Given the description of an element on the screen output the (x, y) to click on. 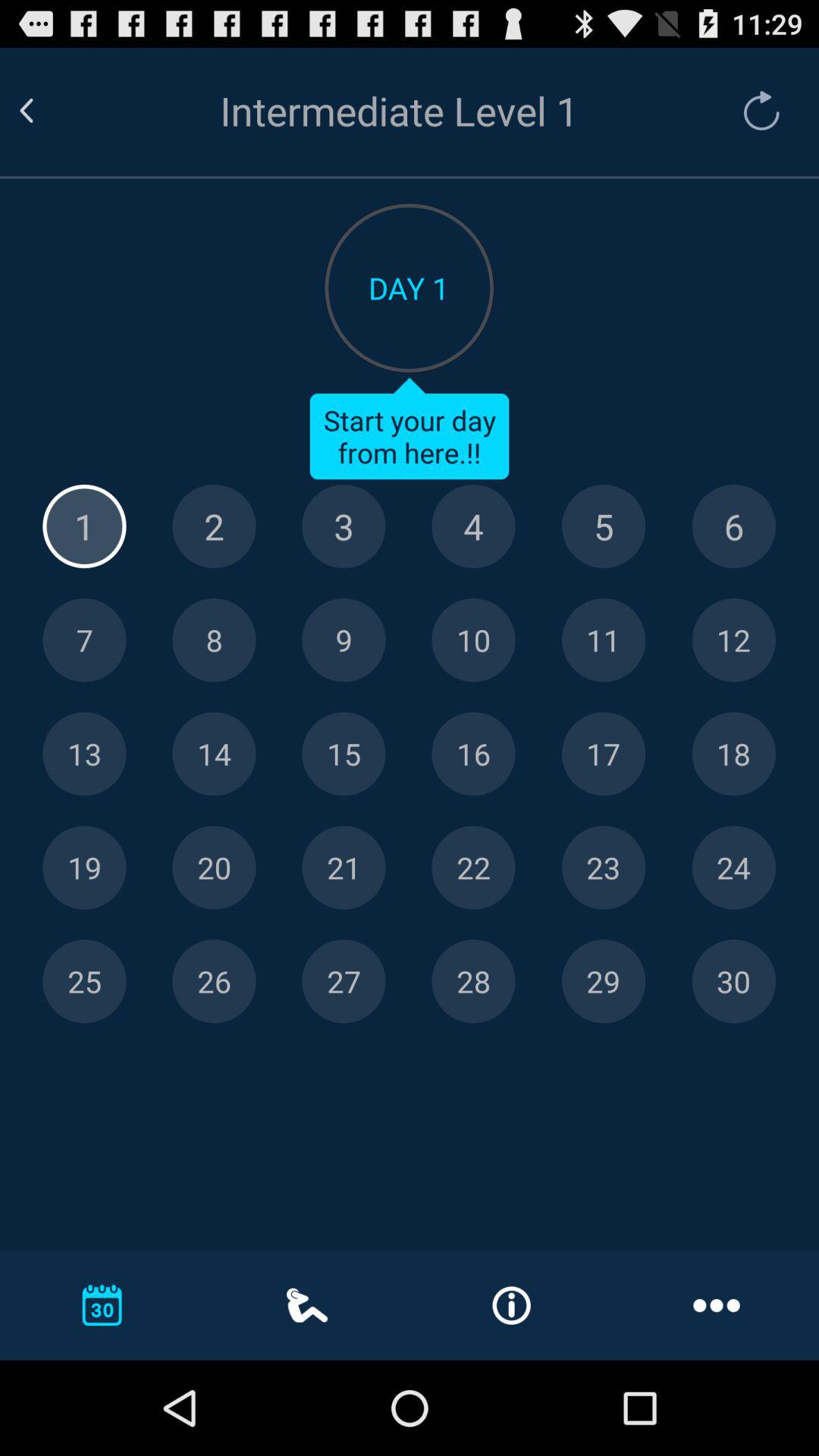
go to day 6 (733, 526)
